Given the description of an element on the screen output the (x, y) to click on. 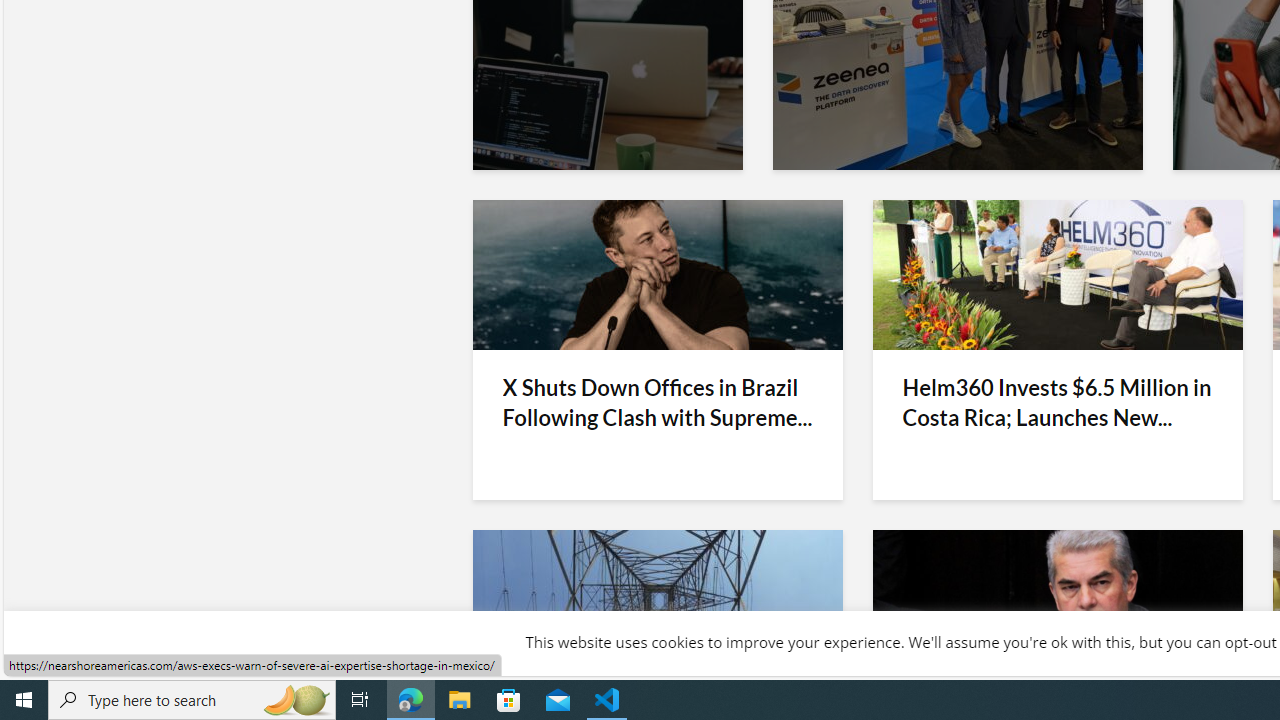
Musk Brazil X (657, 274)
Helm360 (1056, 274)
Helm360 Invests $6.5 Million in Costa Rica; Launches New... (1057, 402)
Helm360 (1056, 274)
Musk Brazil X (657, 274)
